Given the description of an element on the screen output the (x, y) to click on. 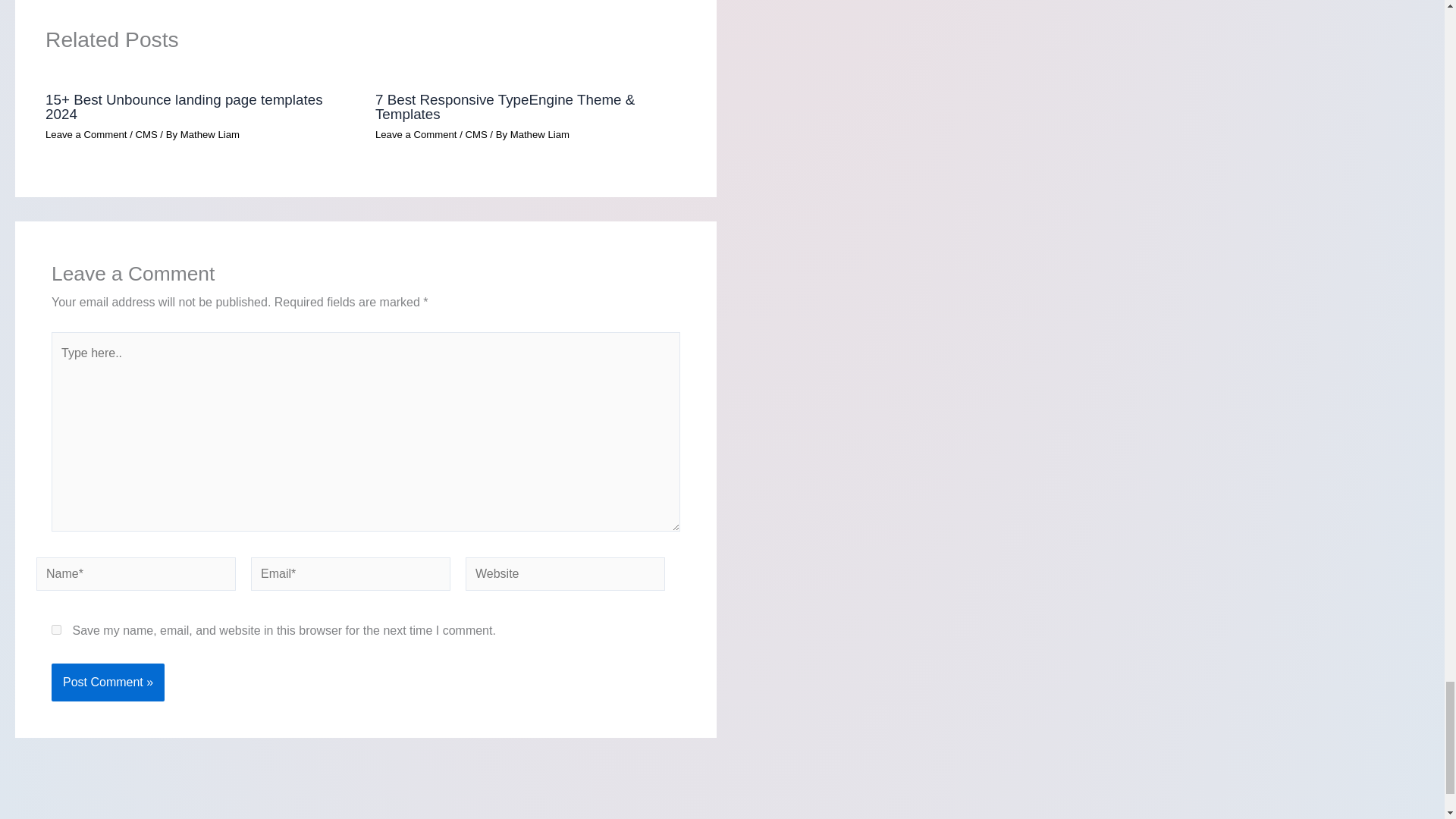
View all posts by Mathew Liam (540, 134)
yes (55, 629)
View all posts by Mathew Liam (210, 134)
